Given the description of an element on the screen output the (x, y) to click on. 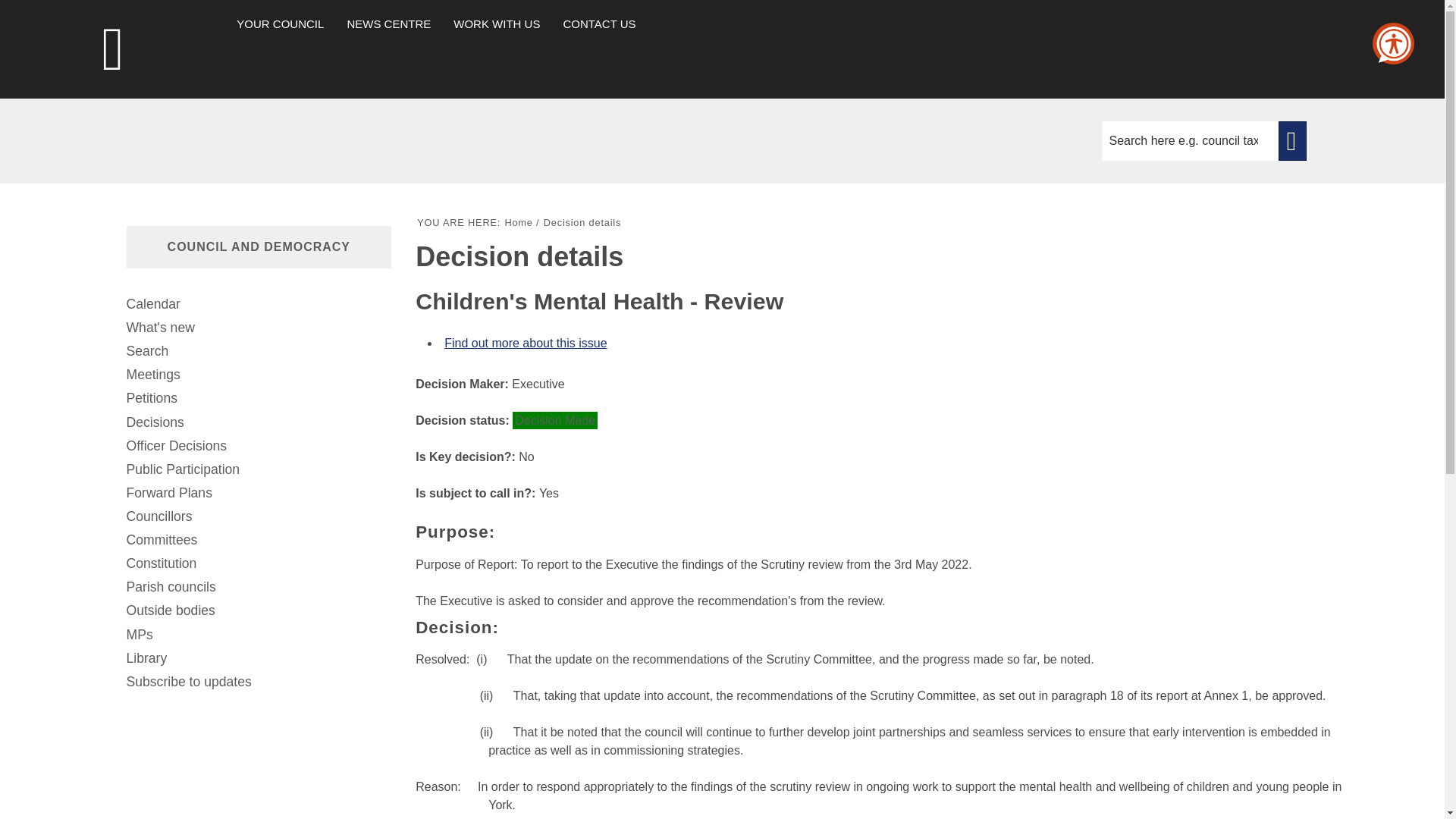
Link to officer decision log (258, 445)
Subscribe to updates (258, 681)
YOUR COUNCIL (279, 23)
Officer Decisions (258, 445)
Link to what's new (258, 327)
CONTACT US (598, 23)
Forward Plans (258, 493)
Link to committee structure (258, 540)
Search (258, 351)
What's new (258, 327)
NEWS CENTRE (388, 23)
Link to calendar of meetings (258, 304)
Link to register of decisions (258, 422)
Constitution (258, 563)
Link to Constitution (258, 563)
